Given the description of an element on the screen output the (x, y) to click on. 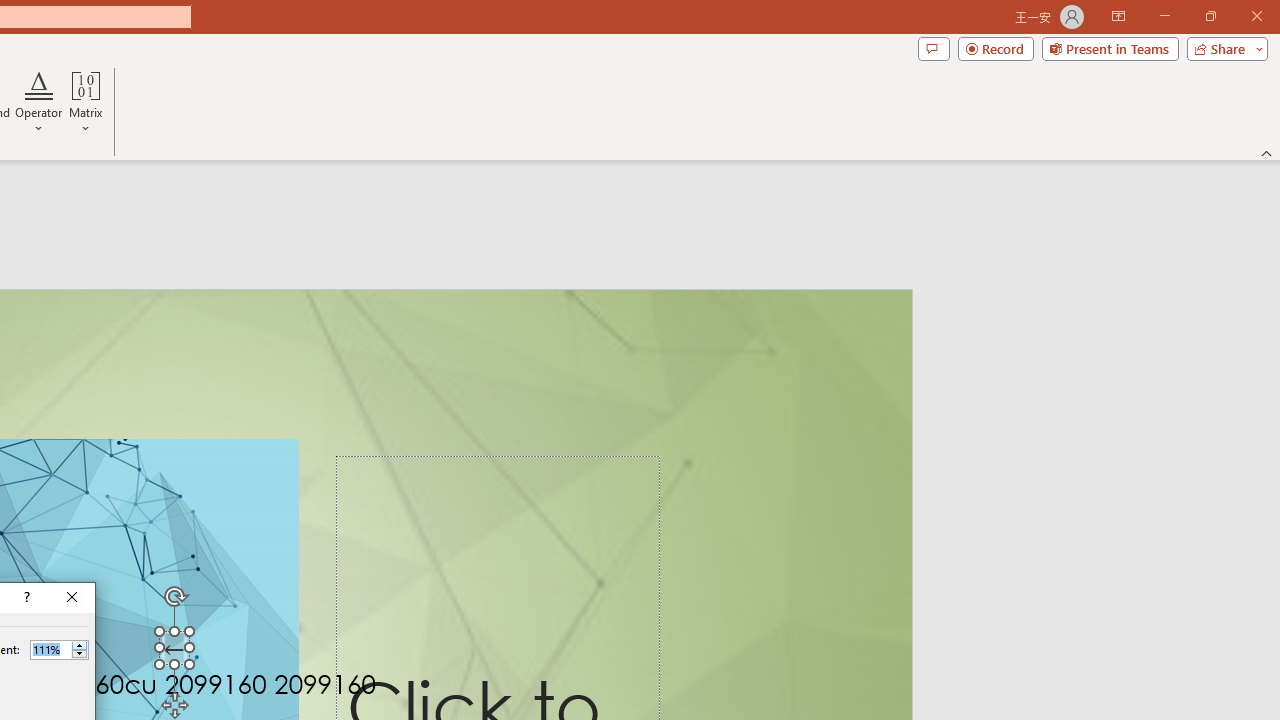
Operator (38, 102)
Context help (25, 597)
Percent (59, 650)
Percent (50, 649)
Matrix (86, 102)
